Given the description of an element on the screen output the (x, y) to click on. 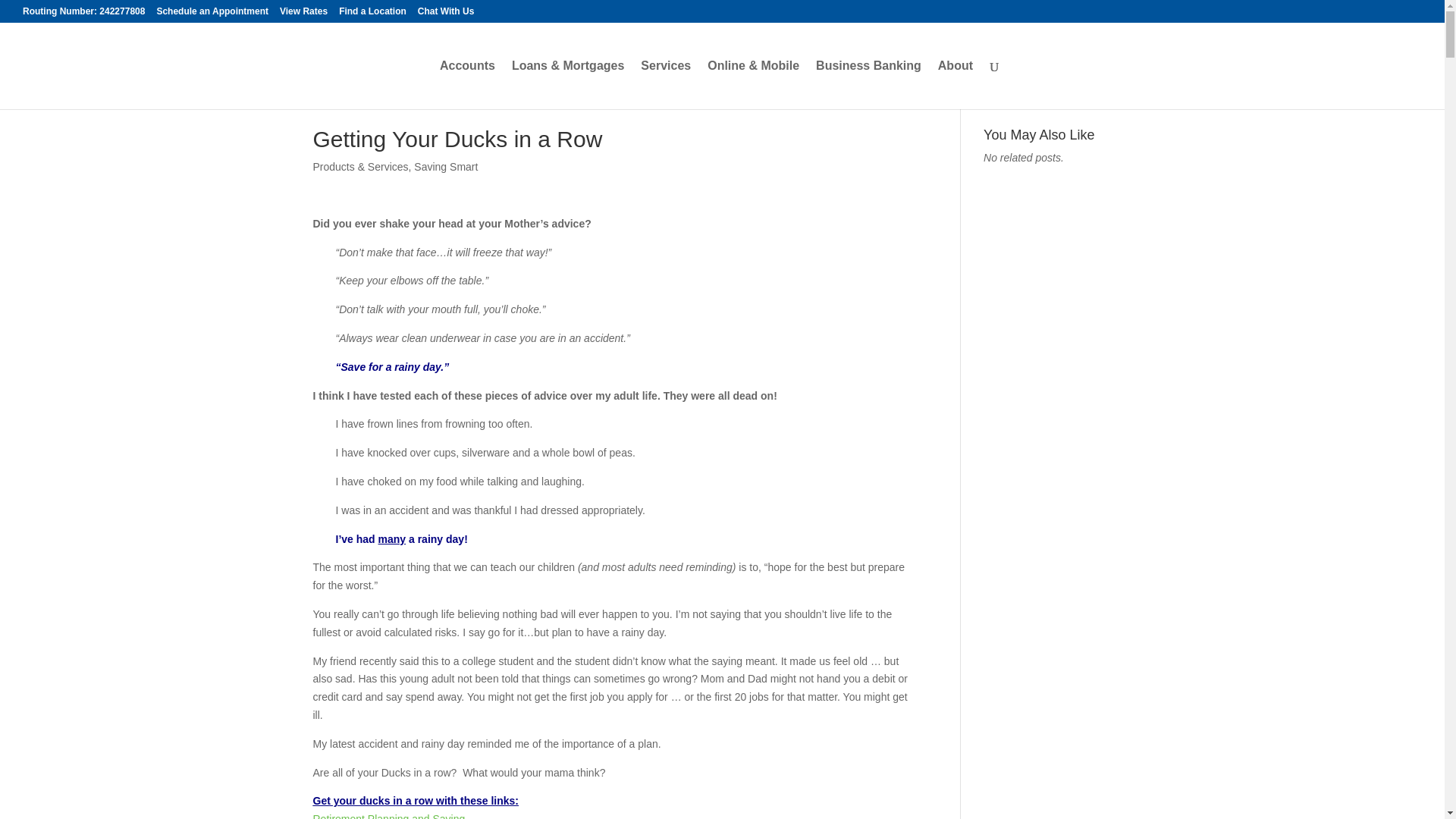
Business Banking (868, 84)
Services (665, 84)
Schedule an Appointment (211, 14)
Accounts (467, 84)
Routing Number: 242277808 (83, 14)
Saving Smart (445, 166)
Chat With Us (445, 14)
View Rates (303, 14)
Retirement Planning and Saving (388, 816)
Find a Location (372, 14)
